Given the description of an element on the screen output the (x, y) to click on. 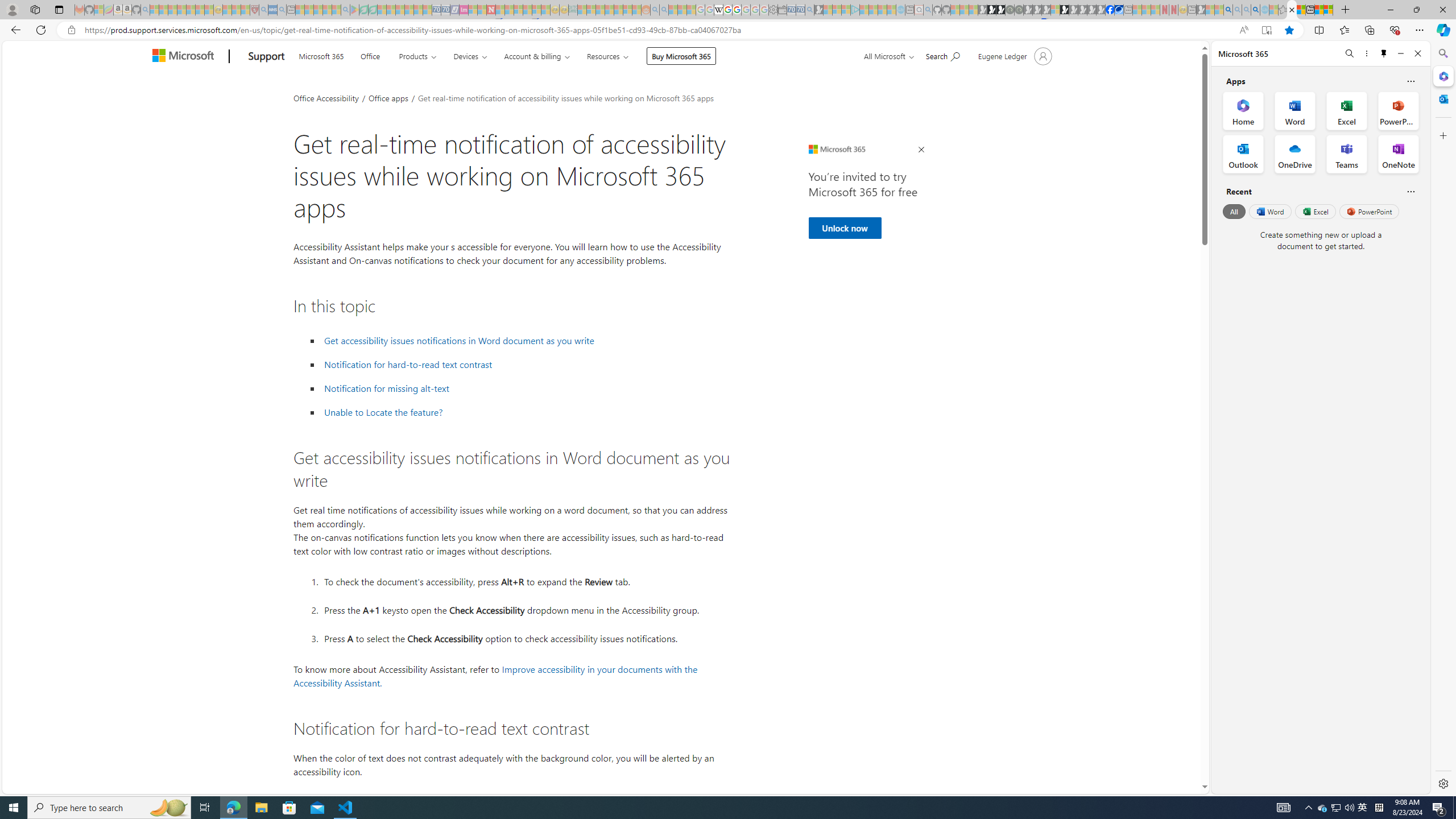
Unpin side pane (1383, 53)
Latest Politics News & Archive | Newsweek.com - Sleeping (490, 9)
Excel Office App (1346, 110)
Notification for hard-to-read text contrast (525, 364)
Privacy Help Center - Policies Help (726, 9)
Favorites - Sleeping (1283, 9)
Support (266, 56)
14 Common Myths Debunked By Scientific Facts - Sleeping (508, 9)
Unlock now (844, 228)
Microsoft Start Gaming - Sleeping (818, 9)
